Given the description of an element on the screen output the (x, y) to click on. 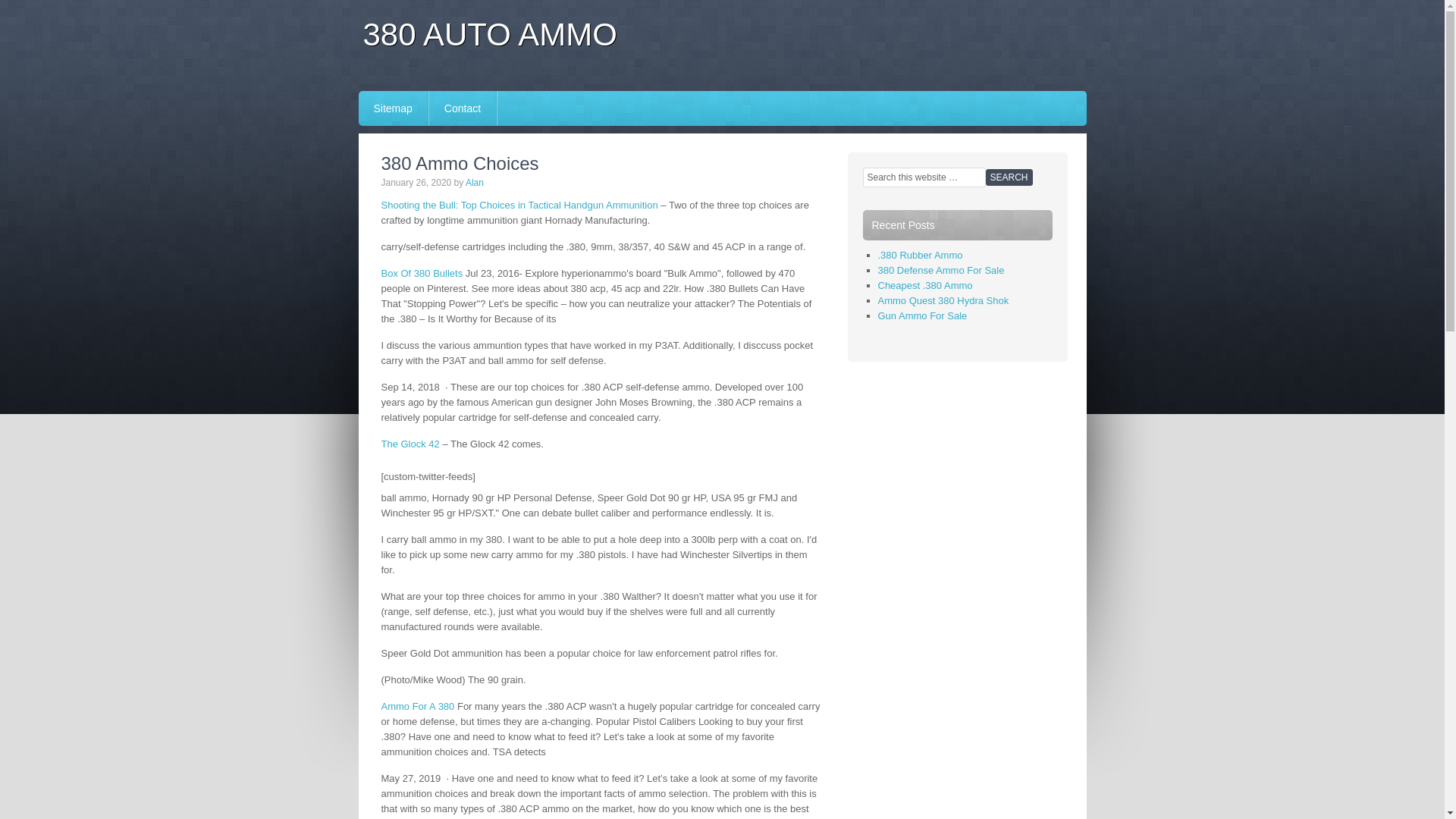
Search Element type: text (1008, 177)
Contact Element type: text (463, 108)
Box Of 380 Bullets Element type: text (421, 273)
The Glock 42 Element type: text (409, 443)
380 AUTO AMMO Element type: text (489, 34)
Alan Element type: text (474, 182)
Ammo For A 380 Element type: text (417, 706)
Gun Ammo For Sale Element type: text (922, 315)
380 Defense Ammo For Sale Element type: text (941, 270)
Ammo Quest 380 Hydra Shok Element type: text (943, 300)
Sitemap Element type: text (392, 108)
.380 Rubber Ammo Element type: text (920, 254)
Cheapest .380 Ammo Element type: text (925, 285)
